Given the description of an element on the screen output the (x, y) to click on. 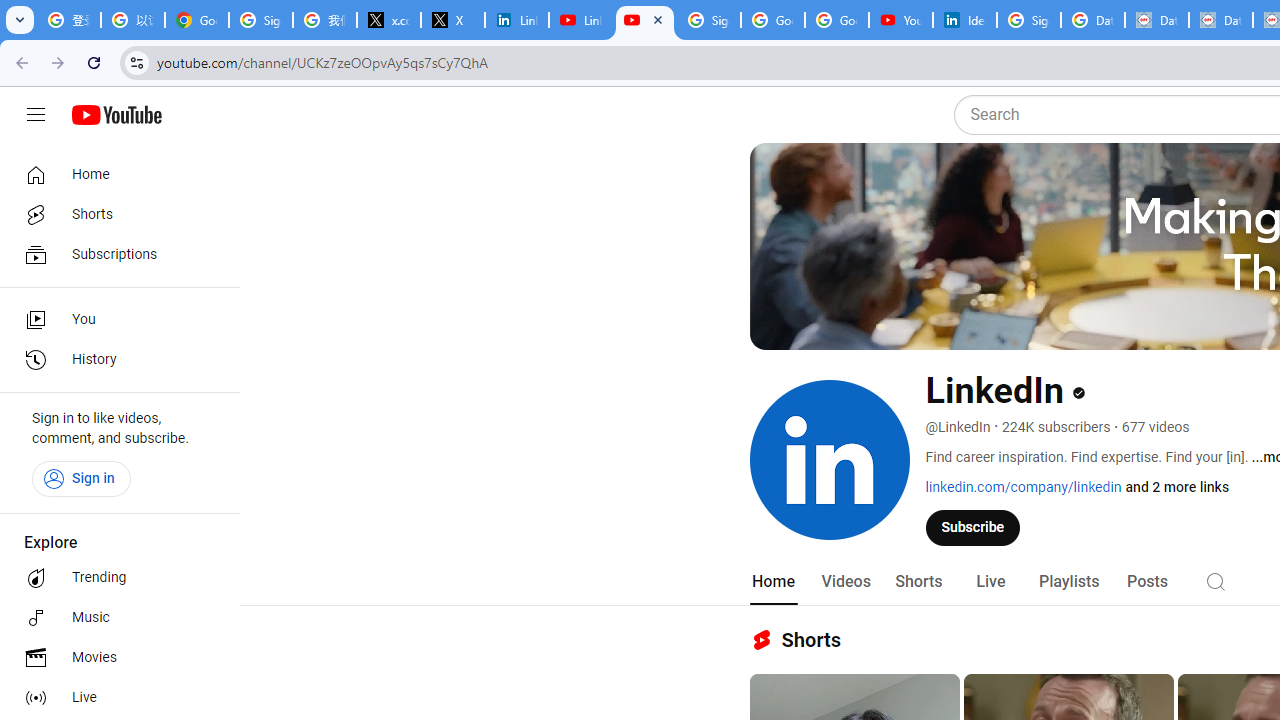
Shorts (918, 581)
Movies (113, 657)
Guide (35, 115)
and 2 more links (1177, 487)
LinkedIn - YouTube (645, 20)
Playlists (1068, 581)
